Given the description of an element on the screen output the (x, y) to click on. 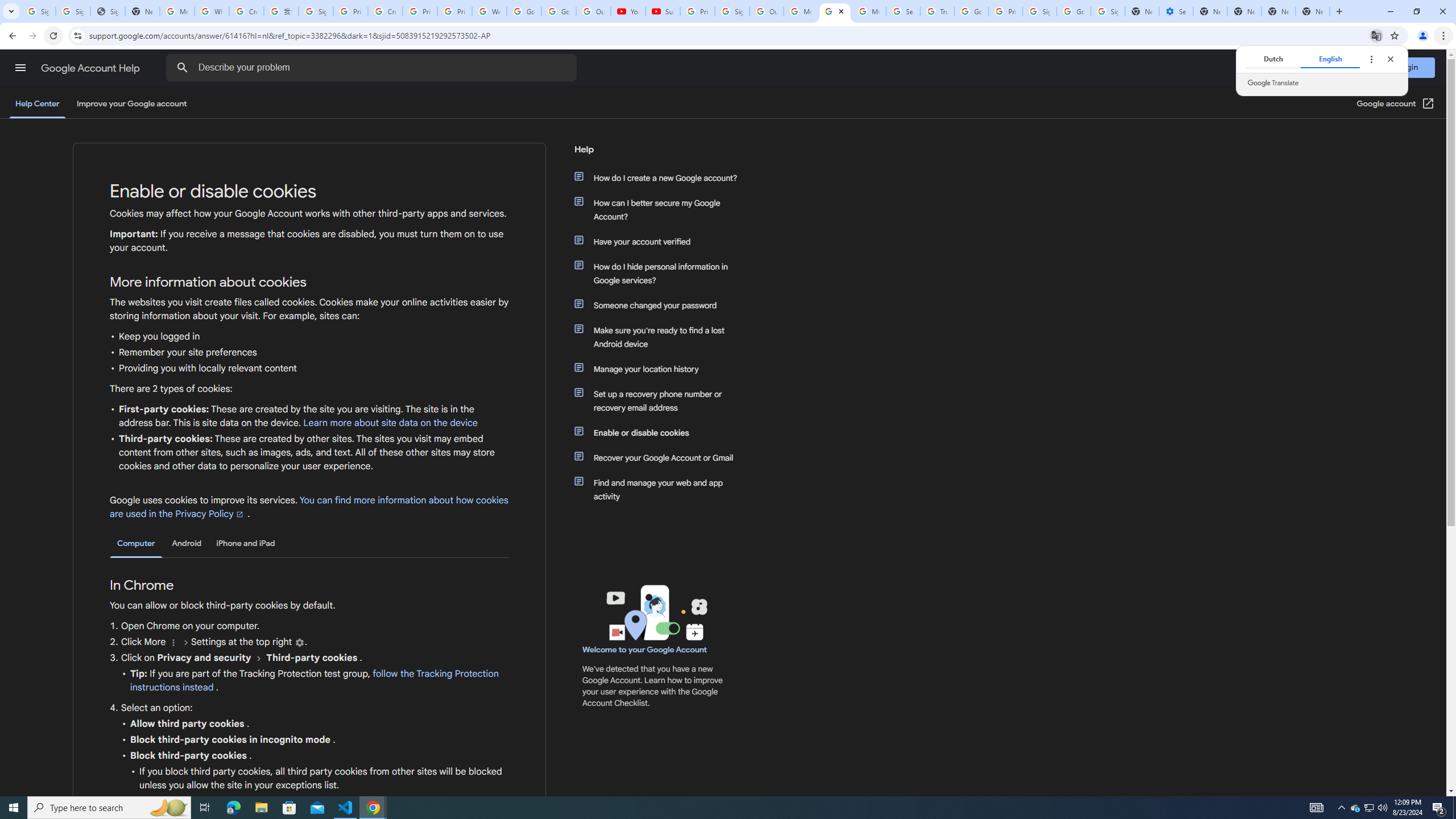
How do I create a new Google account? (661, 177)
Sign in - Google Accounts (38, 11)
Google Account (557, 11)
YouTube (627, 11)
Someone changed your password (661, 305)
Welcome to your Google Account (644, 649)
